Given the description of an element on the screen output the (x, y) to click on. 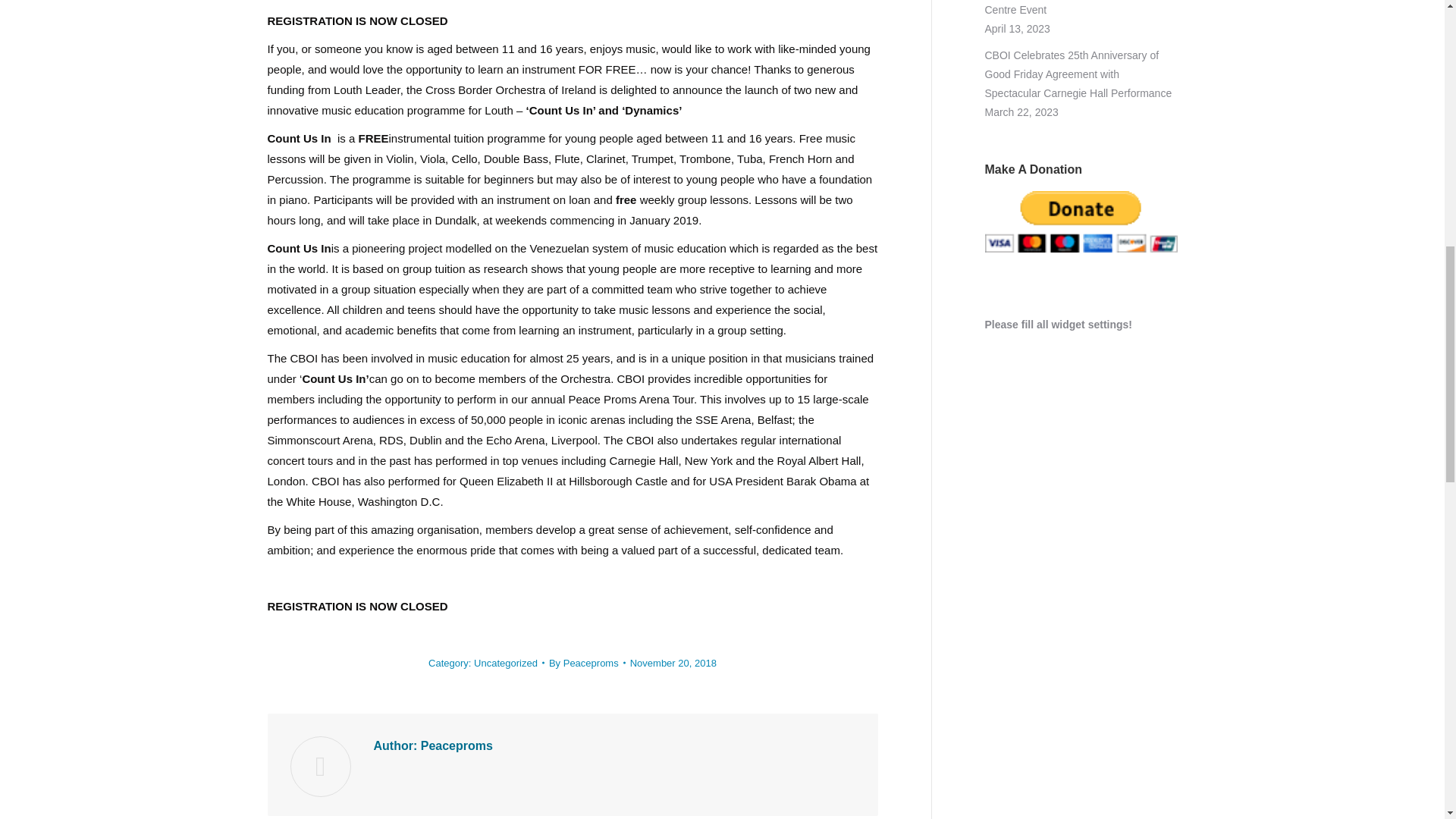
View all posts by Peaceproms (587, 661)
11:07 am (673, 661)
PayPal - The safer, easier way to pay online! (1080, 221)
